Given the description of an element on the screen output the (x, y) to click on. 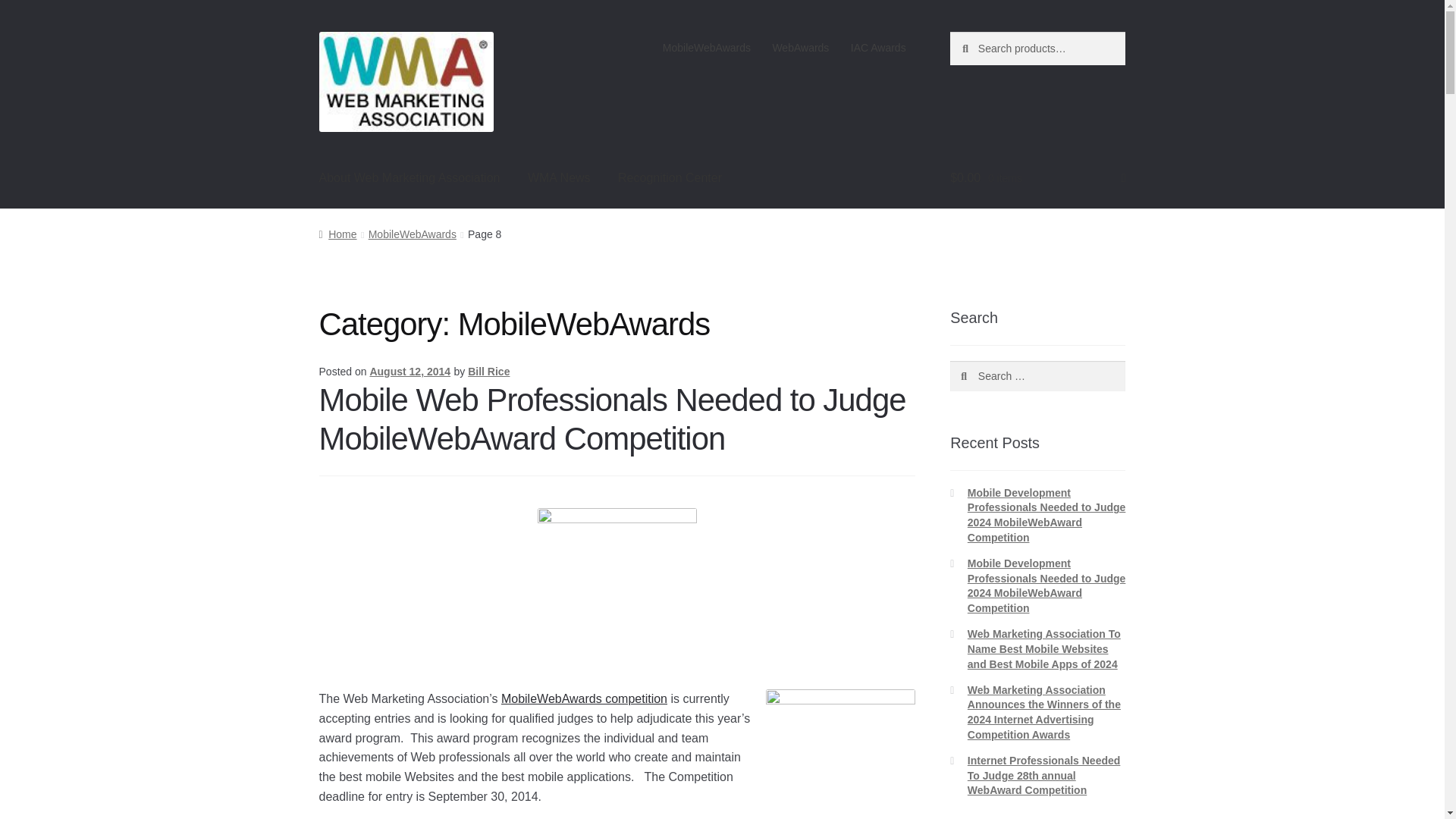
August 12, 2014 (409, 371)
Home (337, 234)
WMA News (558, 178)
MobileWebAwards competition (583, 698)
View your shopping cart (1037, 178)
IAC Awards (878, 47)
Recognition Center (669, 178)
